Given the description of an element on the screen output the (x, y) to click on. 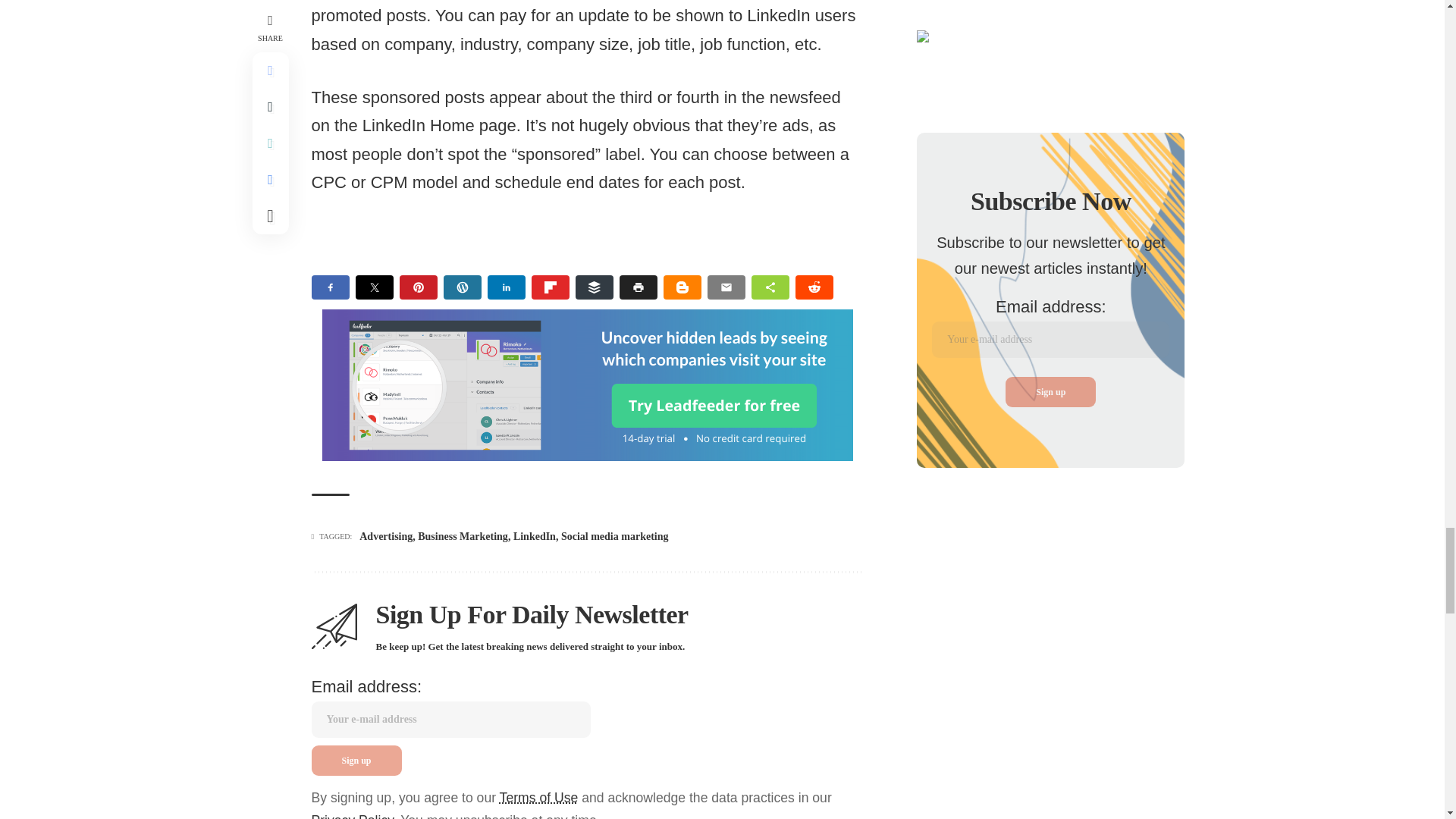
Sign up (1051, 391)
Sign up (356, 760)
